Given the description of an element on the screen output the (x, y) to click on. 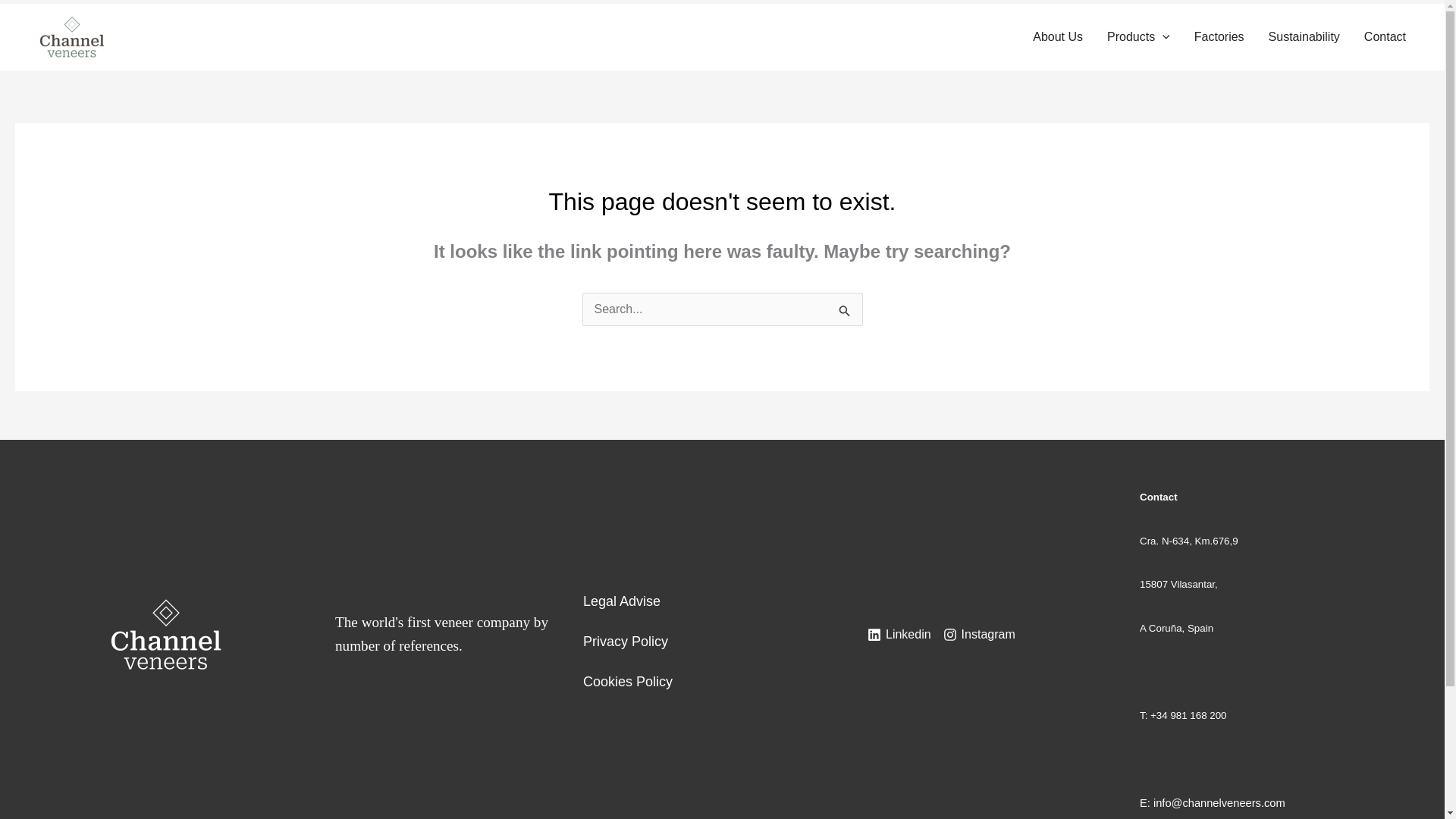
Cookies Policy (627, 674)
Products (1138, 36)
Factories (1219, 36)
Instagram (979, 634)
Sustainability (1304, 36)
Contact (1385, 36)
Linkedin (899, 634)
Legal Advise (622, 593)
Privacy Policy (625, 634)
About Us (1057, 36)
